Given the description of an element on the screen output the (x, y) to click on. 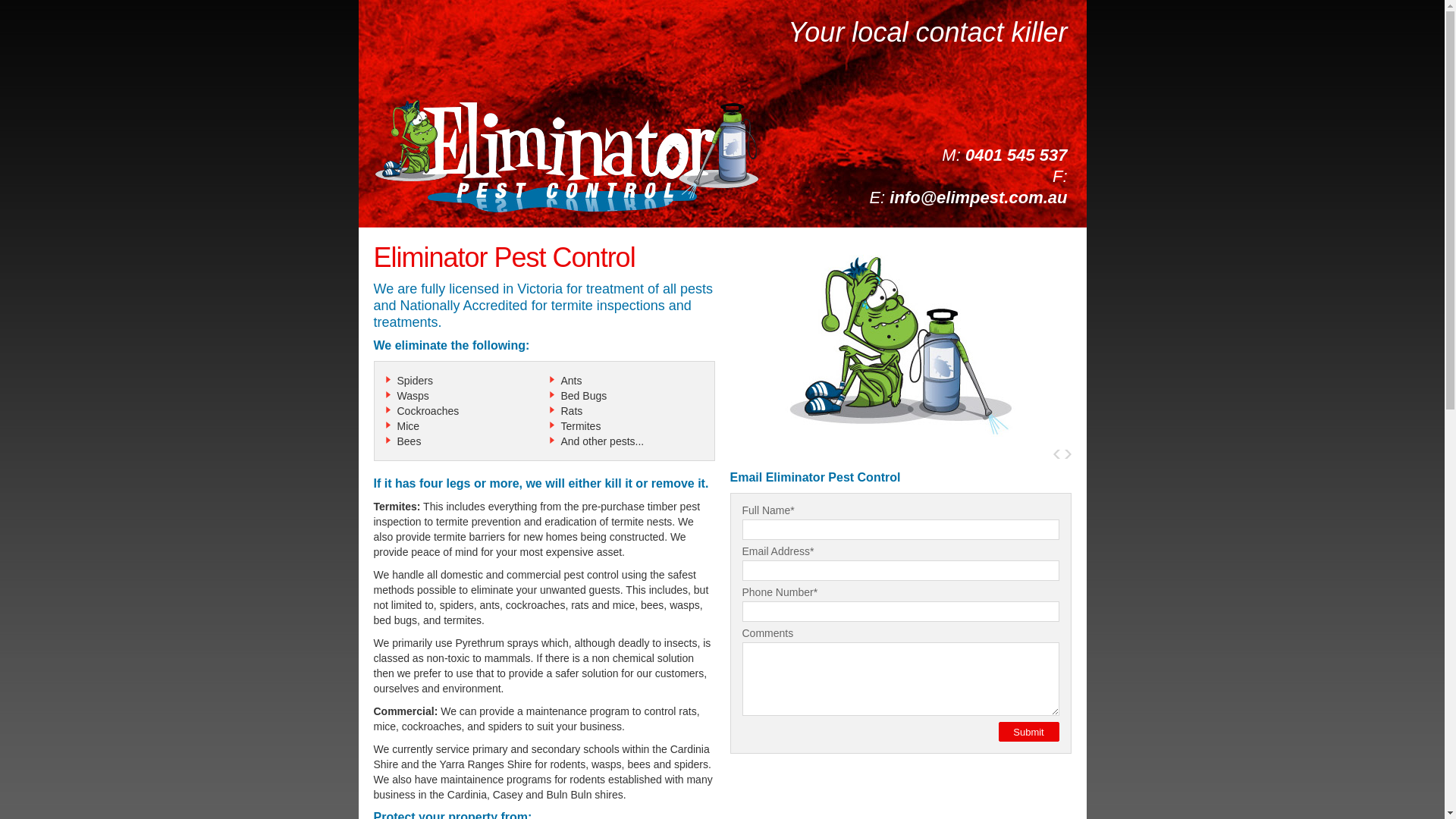
Submit Element type: text (1027, 731)
Eliminator Pest Control Element type: hover (565, 155)
